Given the description of an element on the screen output the (x, y) to click on. 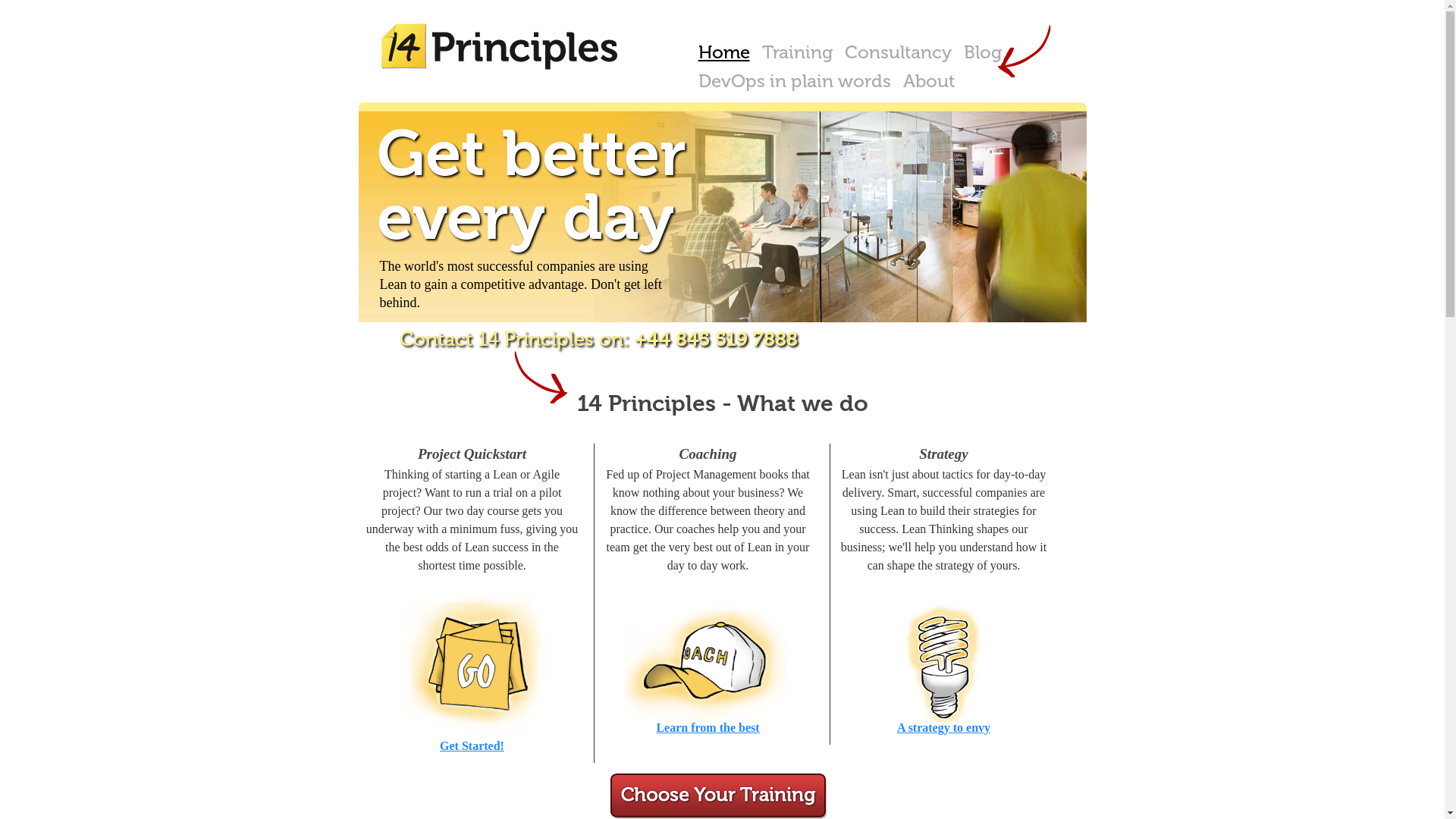
Training Element type: text (796, 51)
Learn from the best Element type: text (707, 726)
Blog Element type: text (982, 51)
About Element type: text (928, 80)
Consultancy Element type: text (897, 51)
A strategy to envy Element type: text (943, 726)
Get Started! Element type: text (471, 744)
DevOps in plain words Element type: text (793, 80)
Home Element type: text (723, 51)
